Given the description of an element on the screen output the (x, y) to click on. 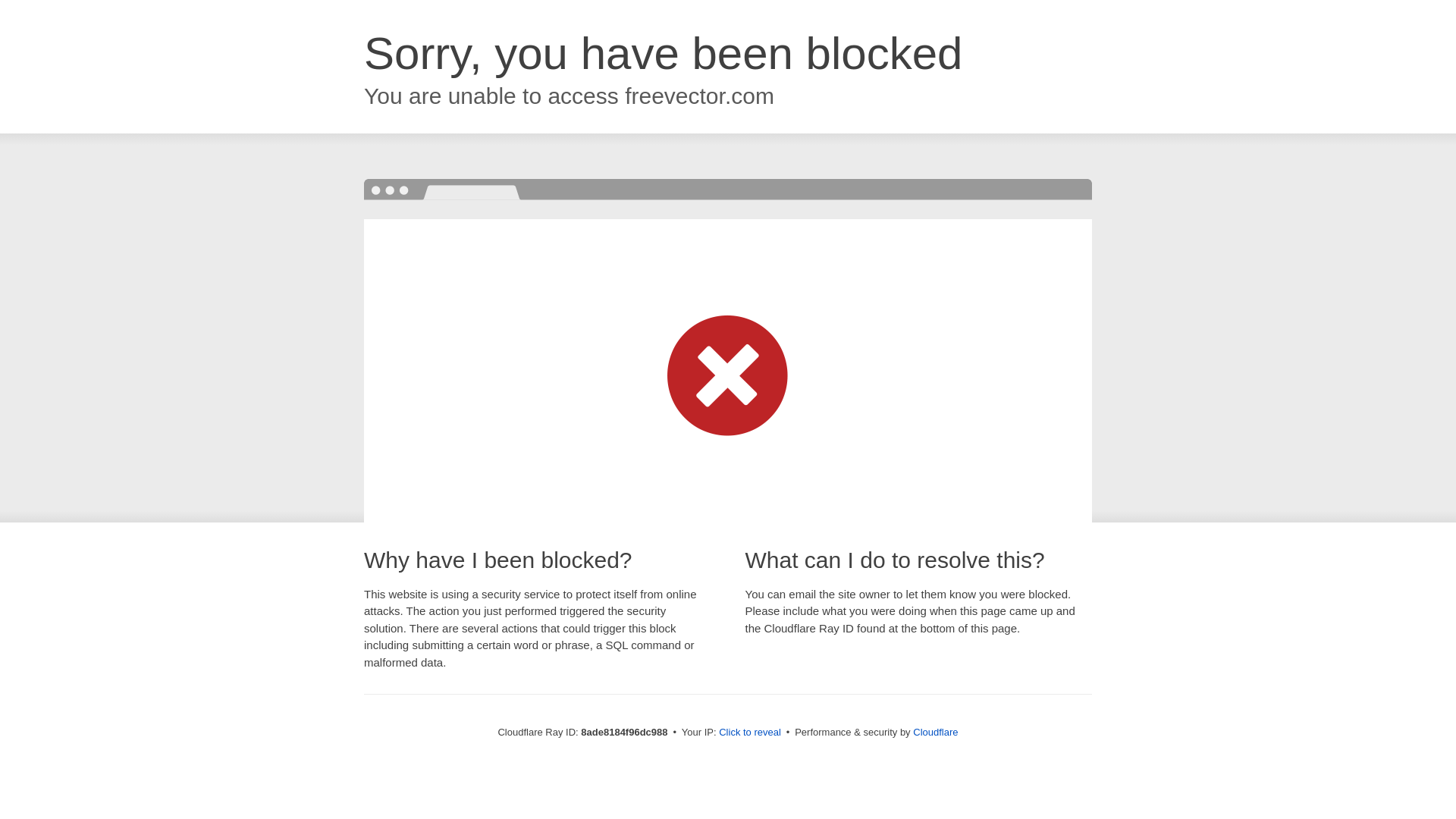
Cloudflare (935, 731)
Click to reveal (749, 732)
